Given the description of an element on the screen output the (x, y) to click on. 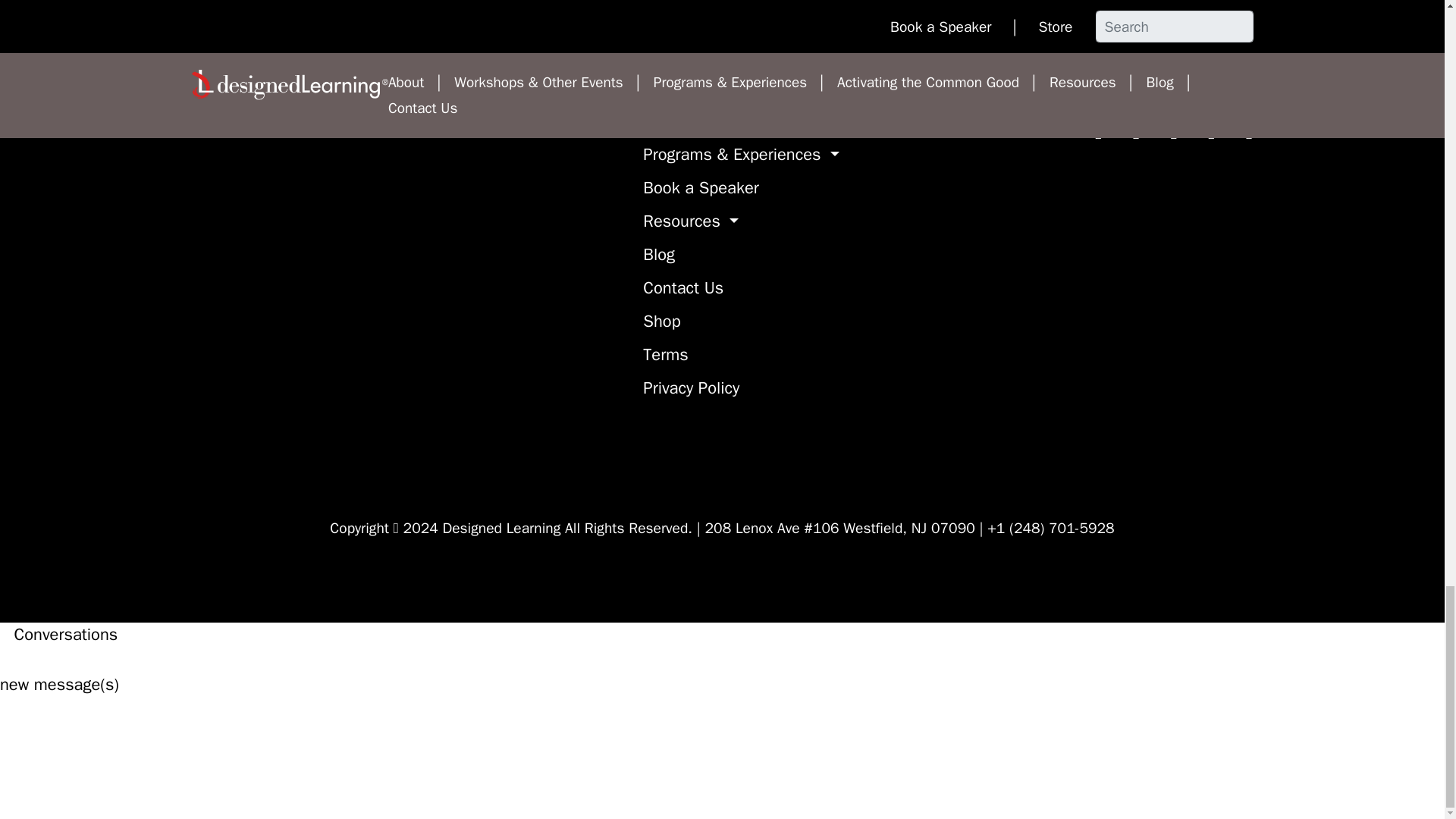
Chat with us (113, 754)
